Given the description of an element on the screen output the (x, y) to click on. 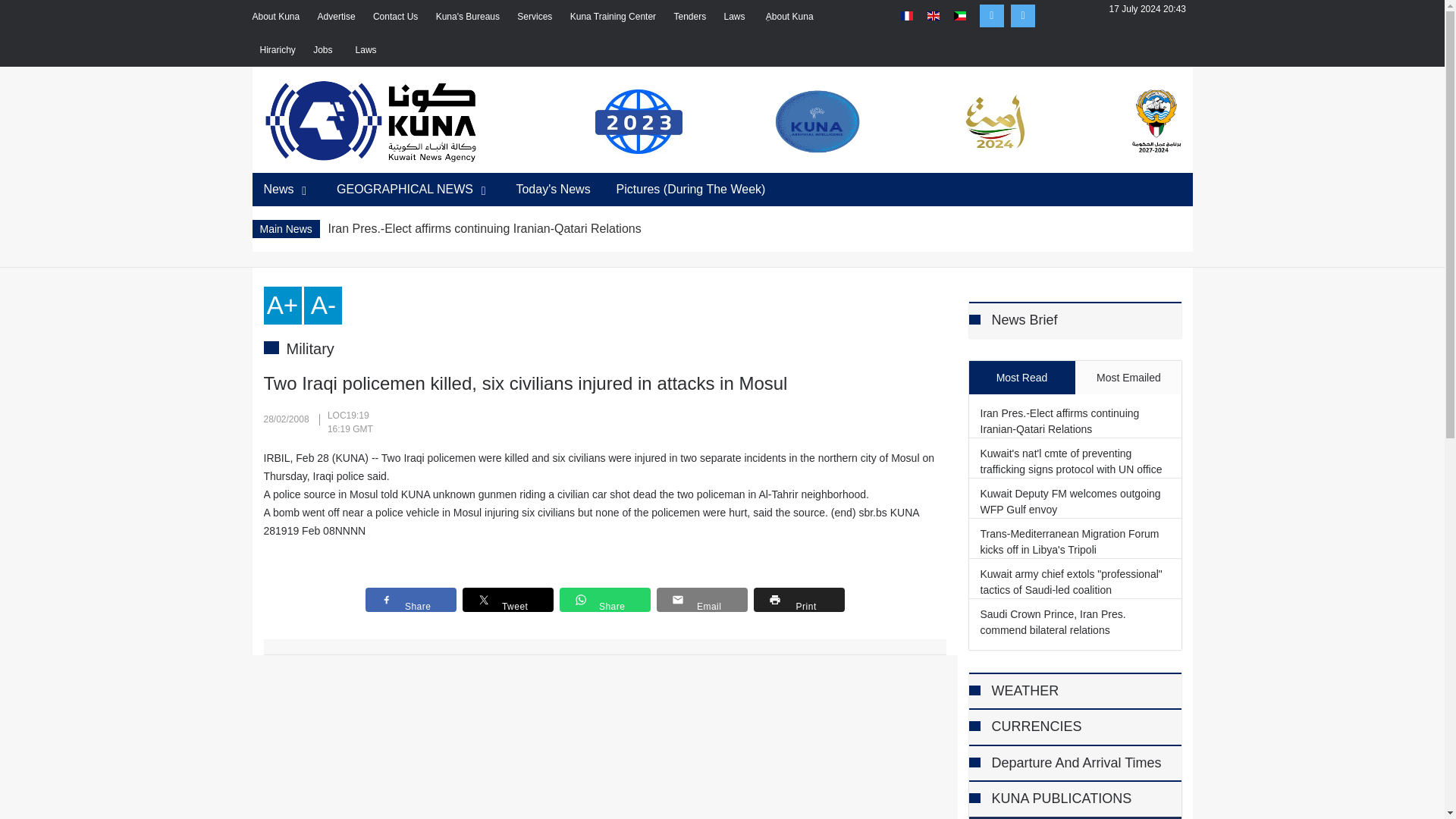
Hirarichy (277, 49)
Jobs (325, 49)
News (286, 189)
Laws (735, 16)
Contact Us (394, 16)
Kuna'S Bureaus (467, 16)
Services (533, 16)
About Kuna (275, 16)
Kuna Training Center (613, 16)
Laws (367, 49)
English (932, 15)
Advertise (336, 16)
Tenders (689, 16)
